Given the description of an element on the screen output the (x, y) to click on. 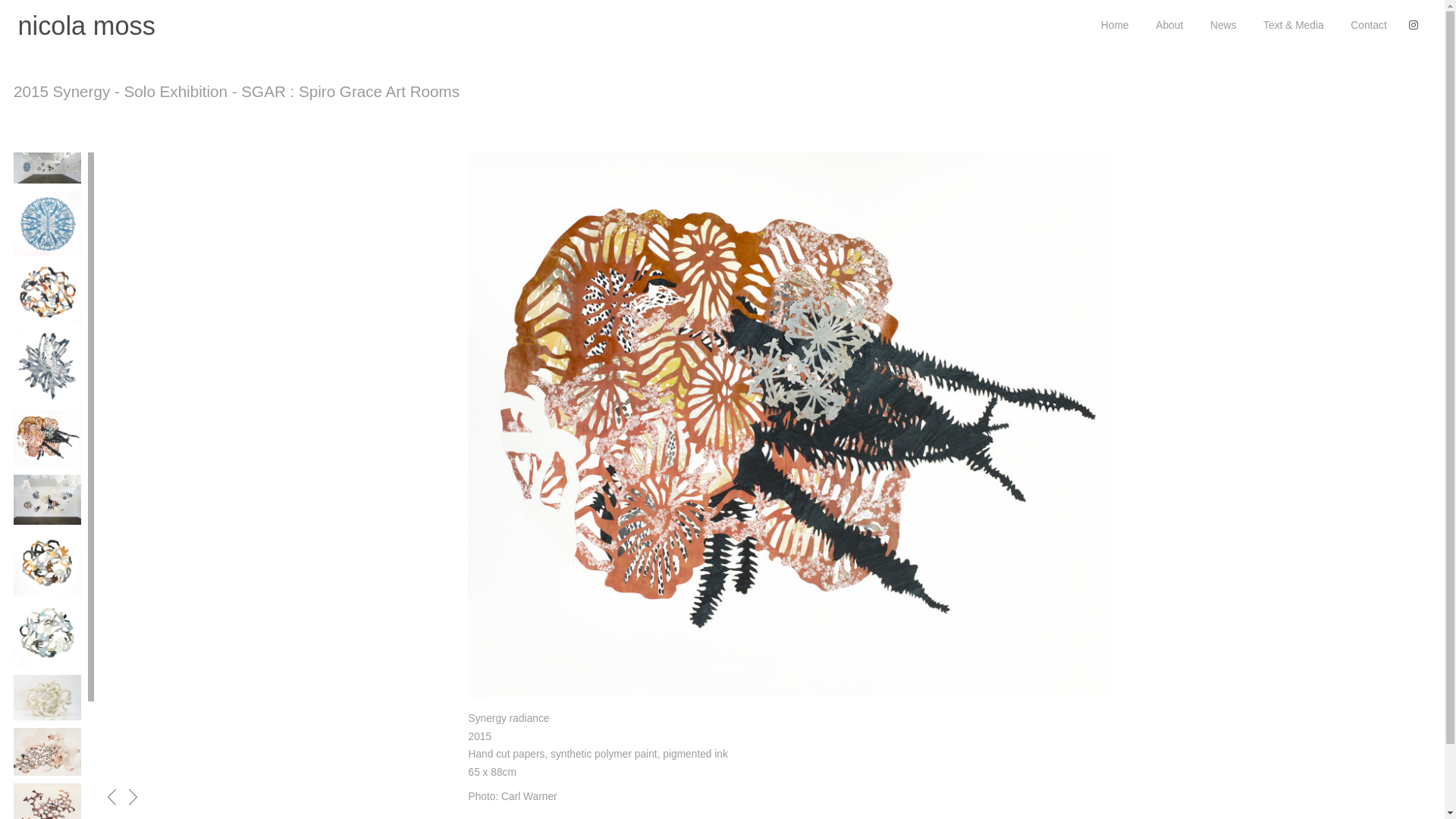
nicola moss Element type: text (86, 26)
Text & Media Element type: text (1293, 25)
About Element type: text (1169, 25)
Contact Element type: text (1368, 25)
News Element type: text (1223, 25)
Home Element type: text (1115, 25)
